Given the description of an element on the screen output the (x, y) to click on. 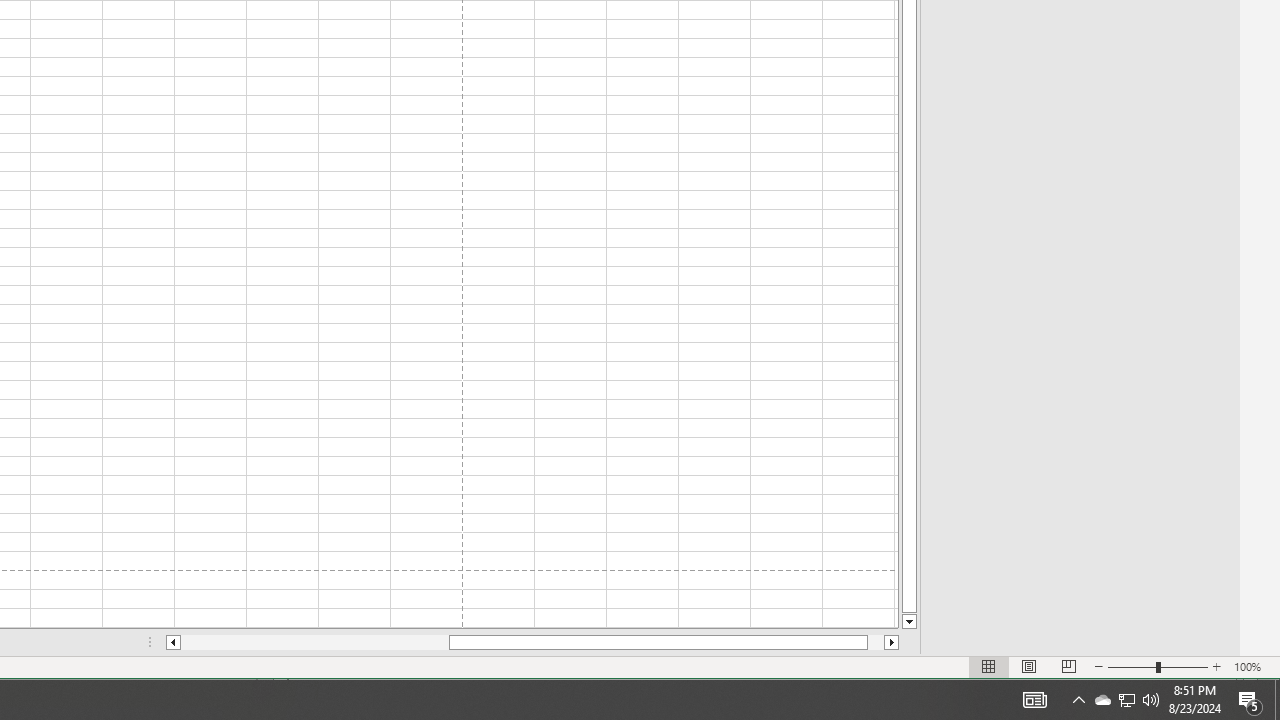
Show desktop (1102, 699)
User Promoted Notification Area (1126, 699)
Q2790: 100% (1277, 699)
